Given the description of an element on the screen output the (x, y) to click on. 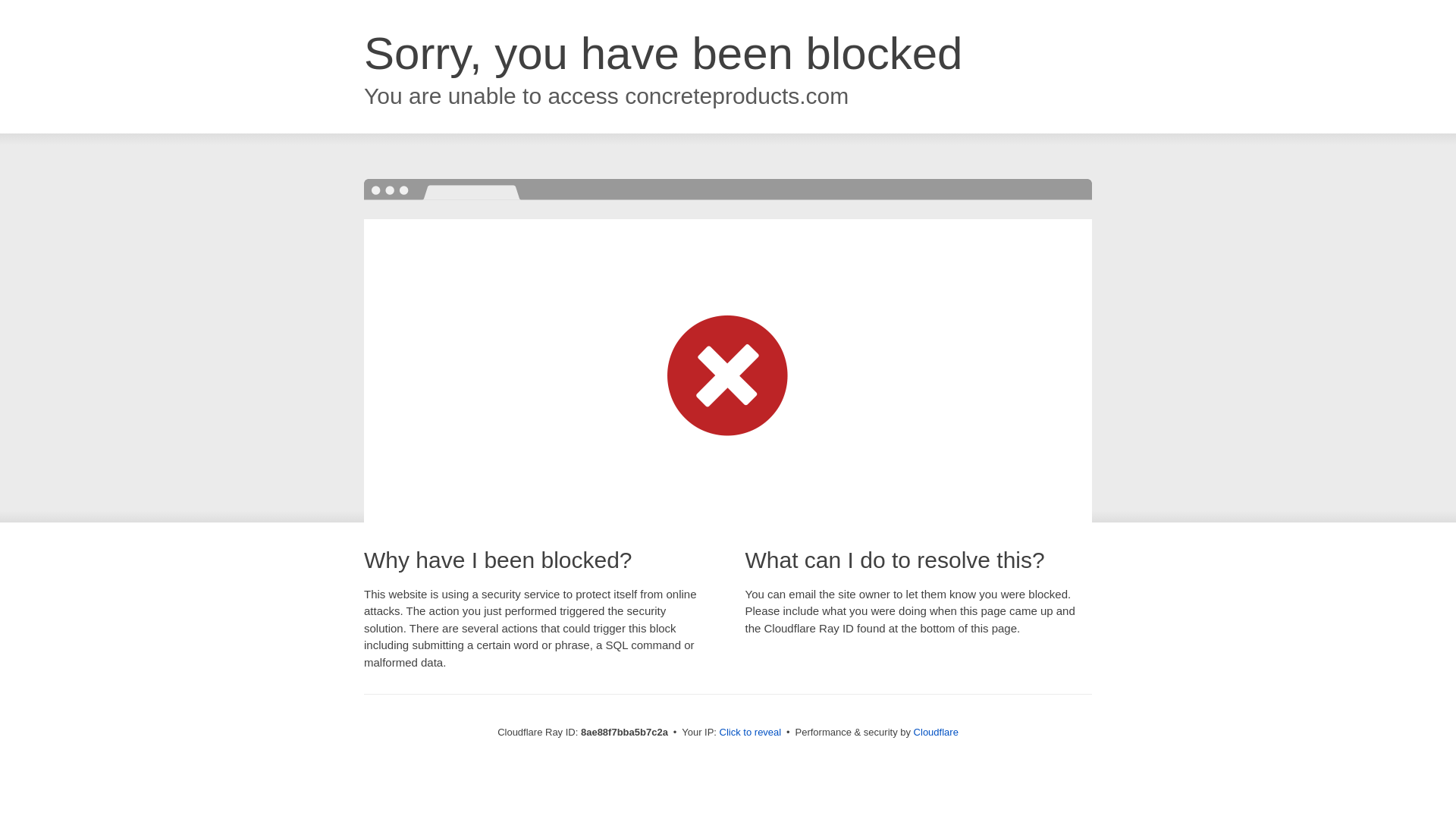
Cloudflare (936, 731)
Click to reveal (750, 732)
